Given the description of an element on the screen output the (x, y) to click on. 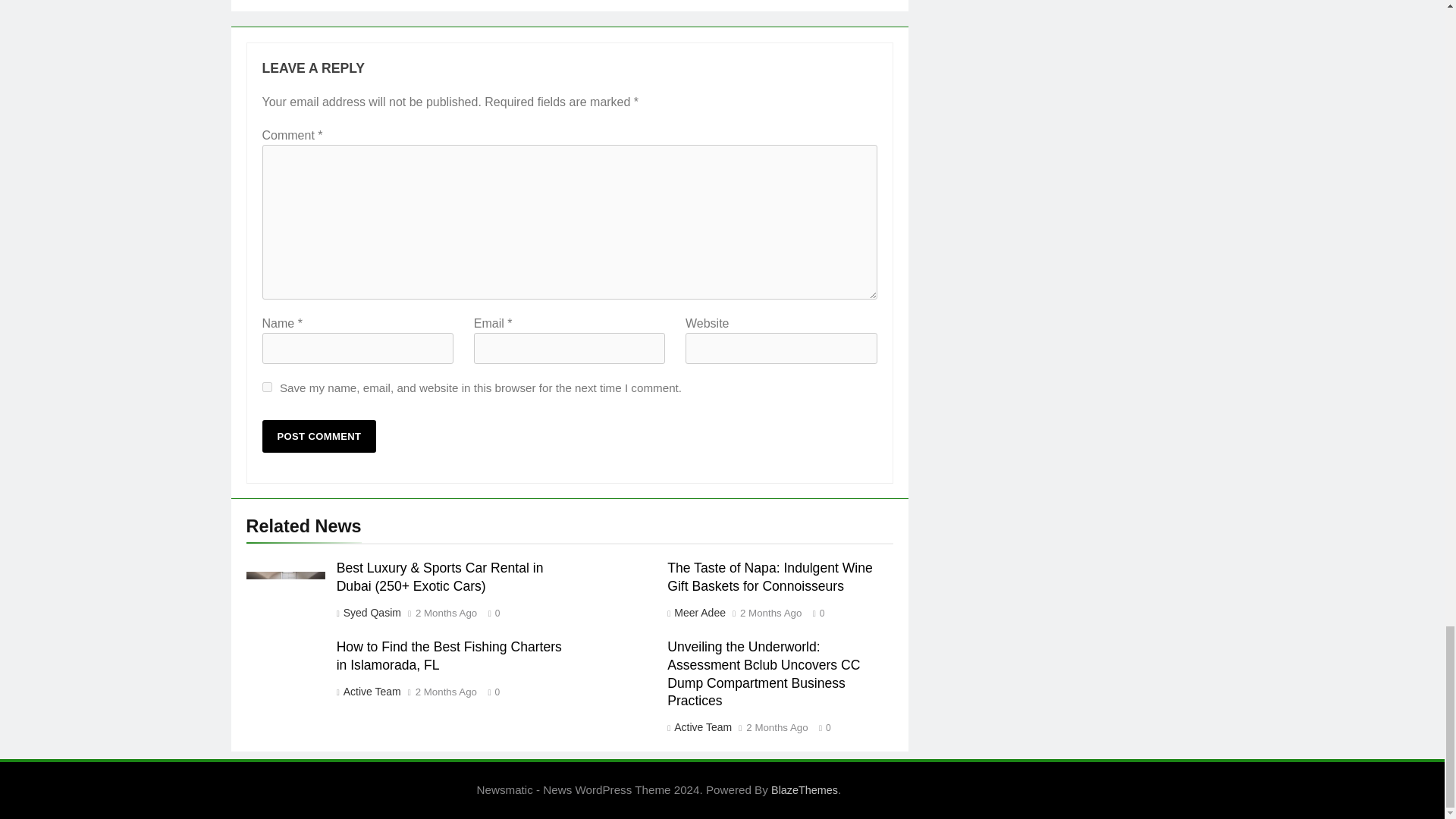
yes (267, 387)
Post Comment (319, 436)
